Given the description of an element on the screen output the (x, y) to click on. 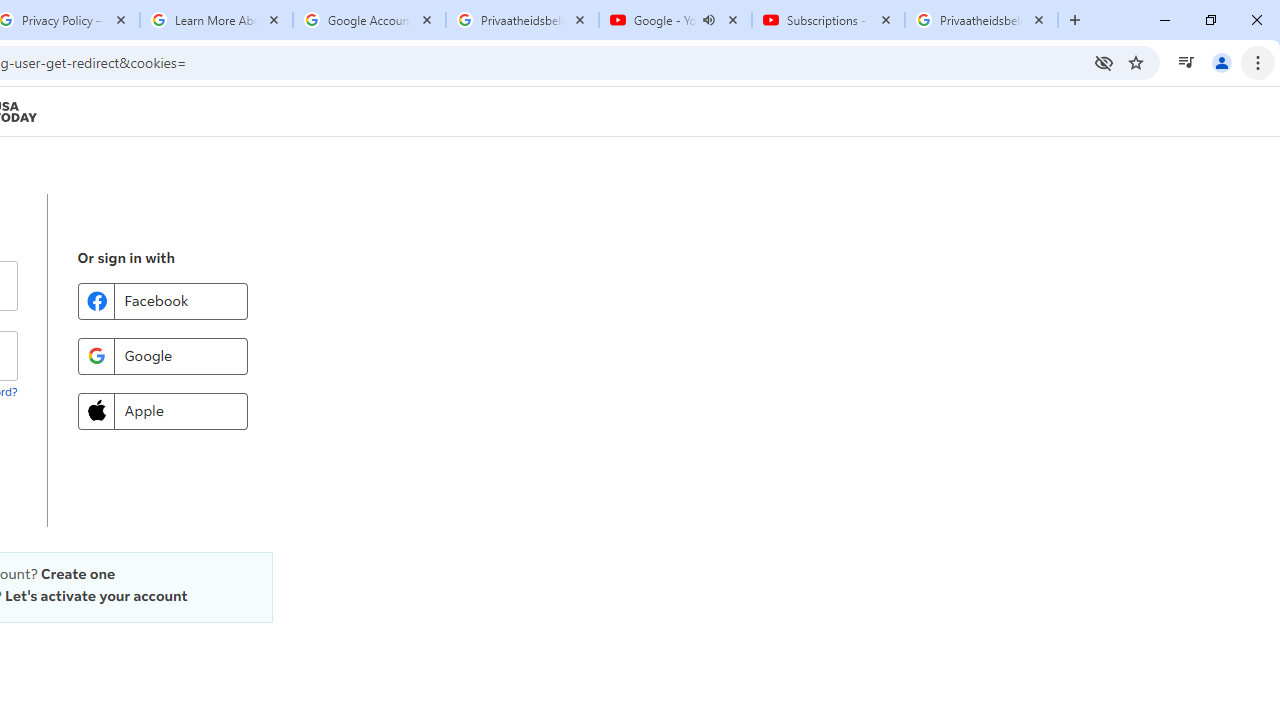
Google Account (369, 20)
Google - YouTube - Audio playing (675, 20)
Subscriptions - YouTube (827, 20)
Facebook (162, 300)
